Given the description of an element on the screen output the (x, y) to click on. 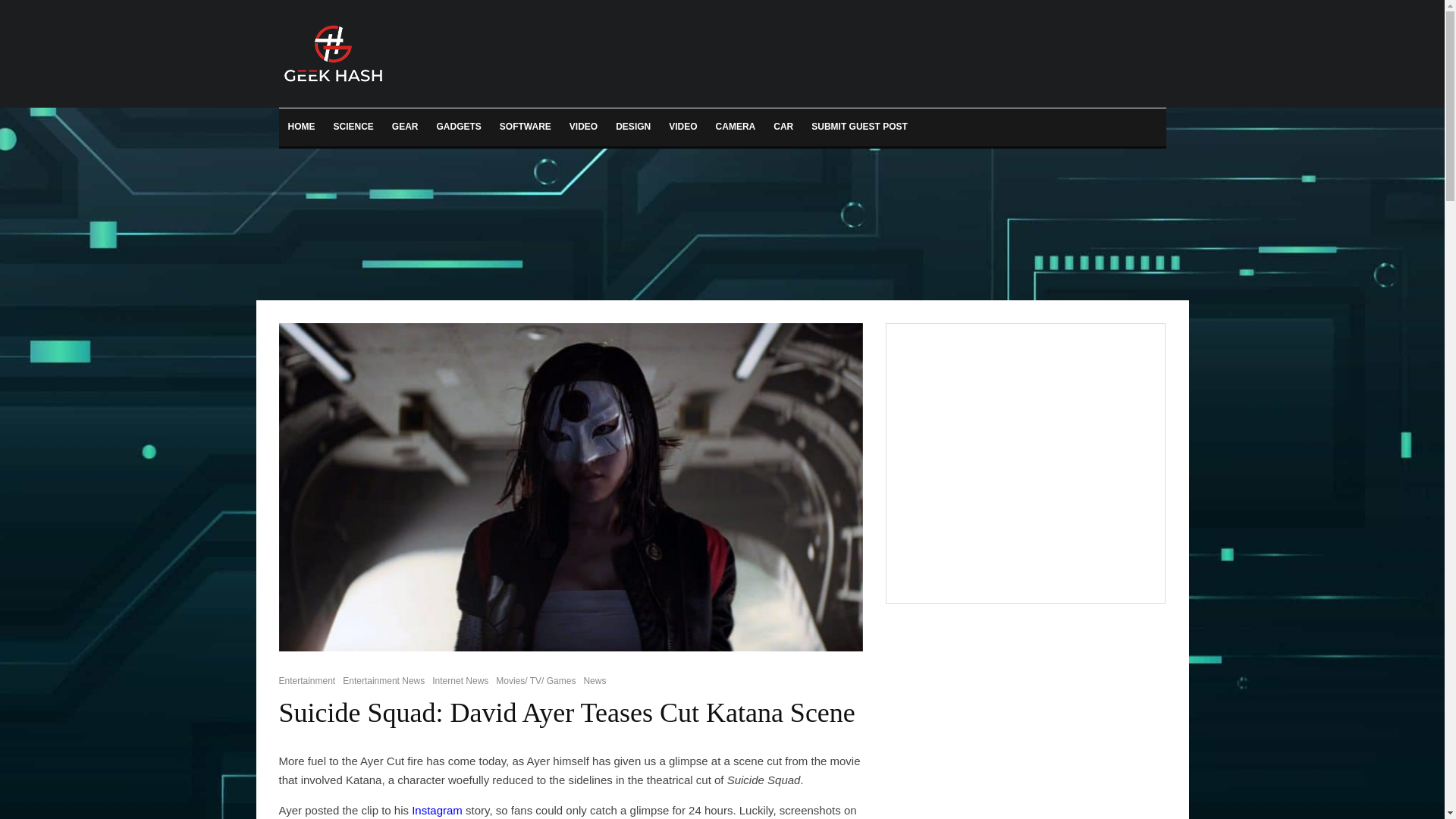
HOME (301, 127)
DESIGN (633, 127)
SCIENCE (353, 127)
GEAR (405, 127)
Advertisement (1021, 460)
VIDEO (583, 127)
SOFTWARE (525, 127)
GADGETS (459, 127)
VIDEO (682, 127)
